Given the description of an element on the screen output the (x, y) to click on. 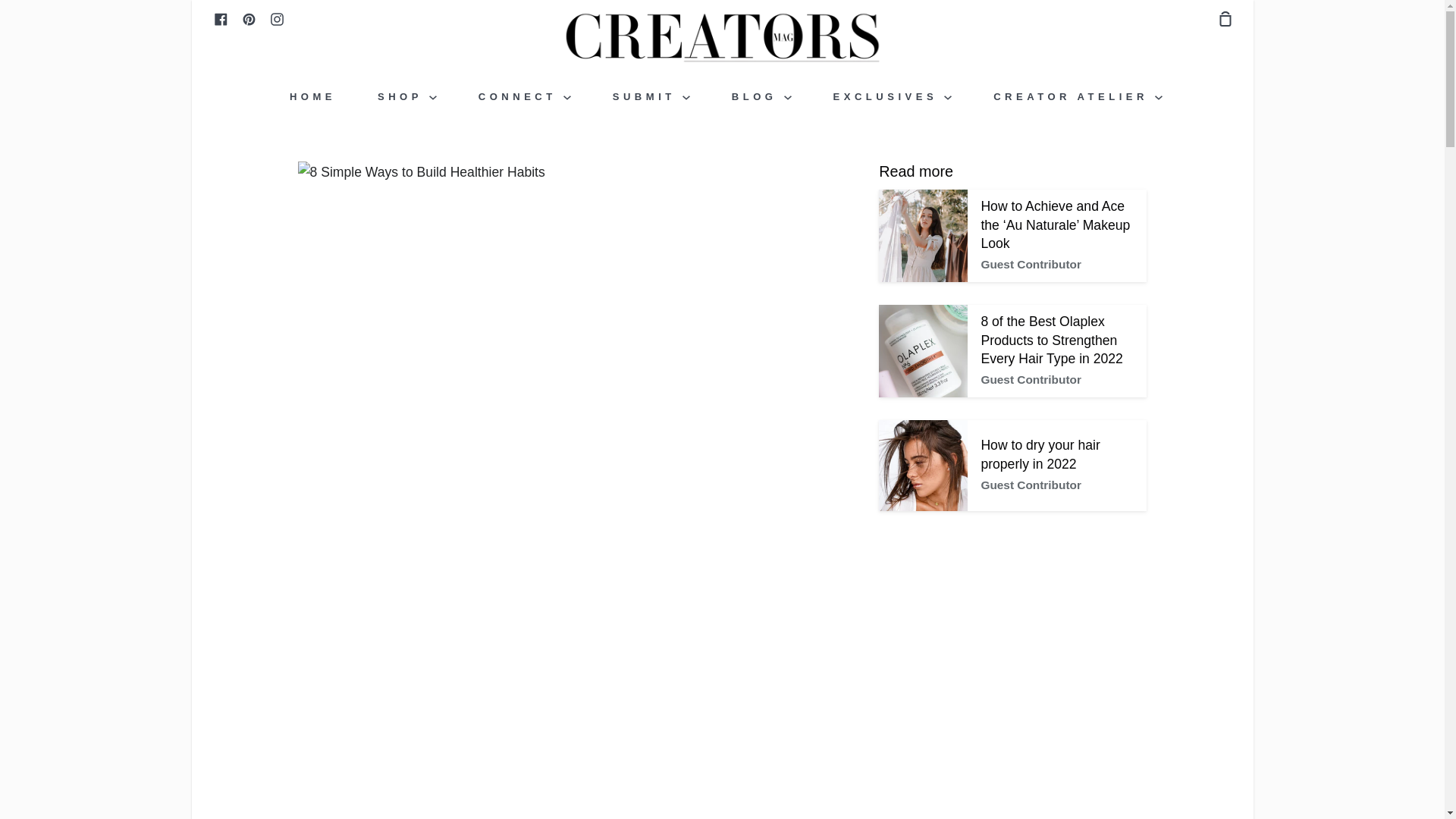
SUBMIT (651, 96)
BLOG (761, 96)
HOME (312, 96)
EXCLUSIVES (892, 96)
CONNECT (524, 96)
SHOP (407, 96)
